Given the description of an element on the screen output the (x, y) to click on. 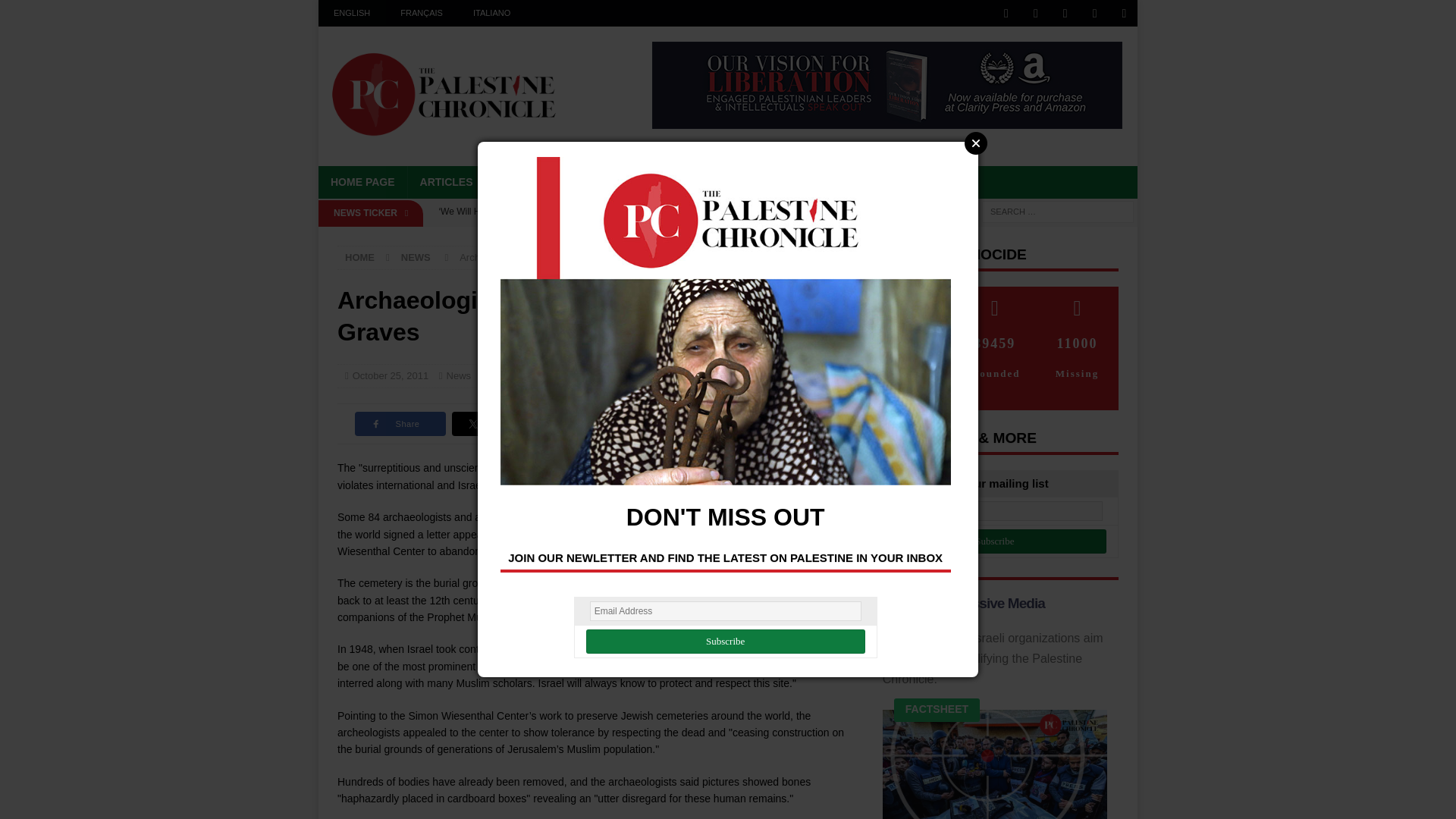
Subscribe (725, 641)
CONTACT US (940, 182)
Search (56, 11)
War on Progressive Media (963, 602)
ITALIANO (491, 13)
NEWS (512, 182)
SUPPORT US (846, 182)
Subscribe (994, 541)
ARTICLES (445, 182)
HOME PAGE (362, 182)
REVIEWS (699, 182)
VIDEOS (629, 182)
ABOUT (767, 182)
HOME (359, 256)
